Given the description of an element on the screen output the (x, y) to click on. 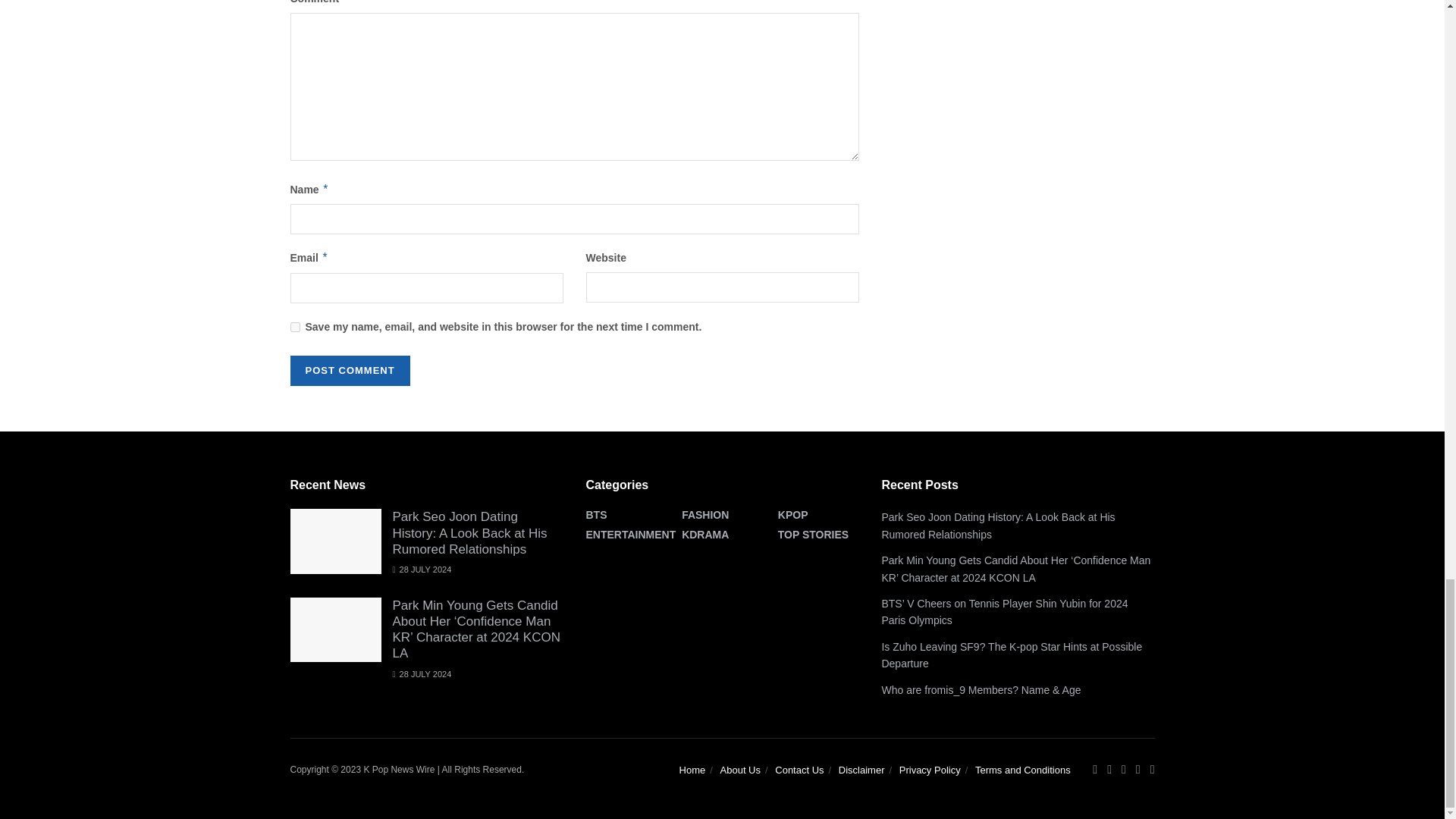
Post Comment (349, 370)
yes (294, 327)
